Given the description of an element on the screen output the (x, y) to click on. 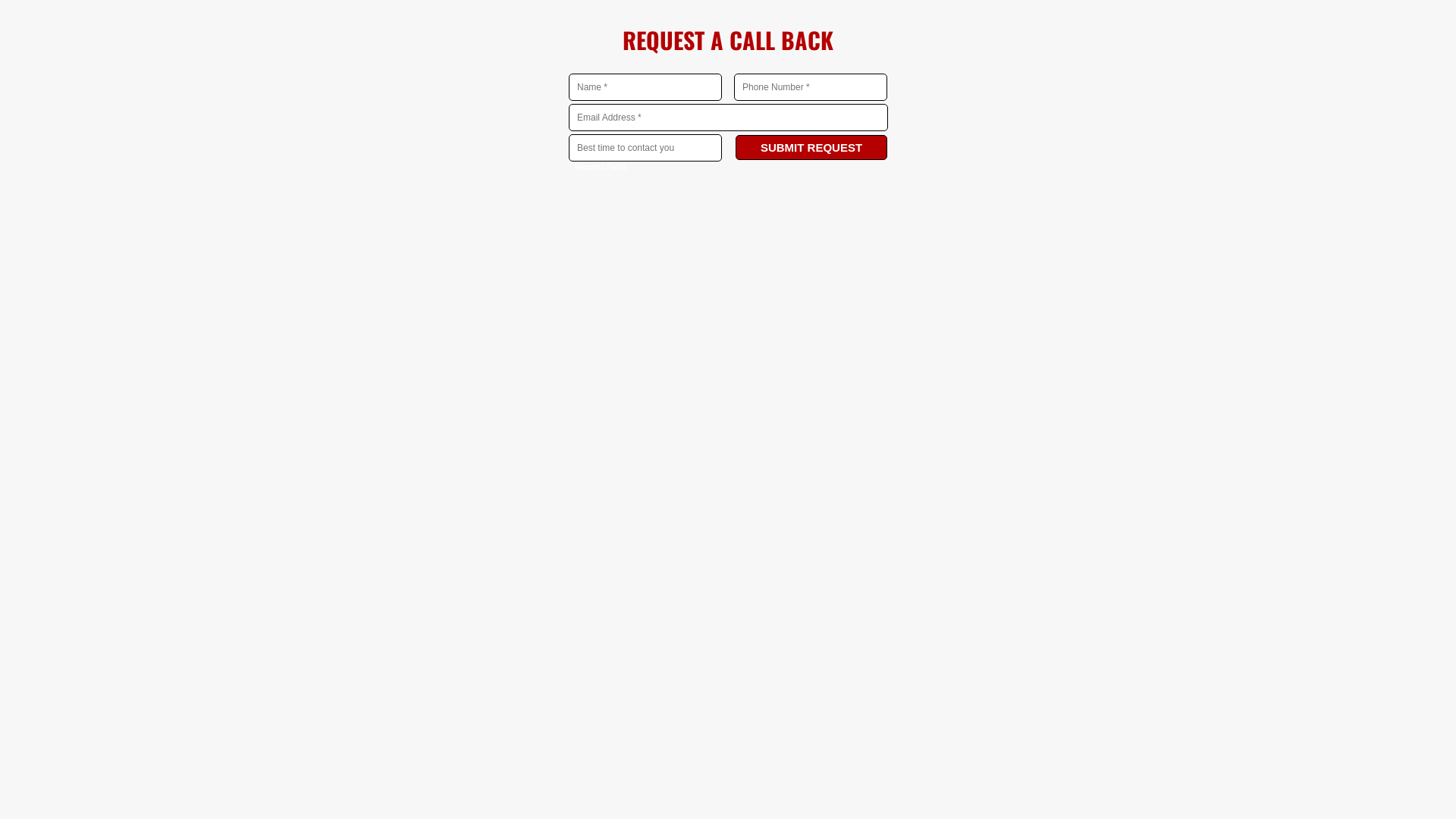
Submit Request Element type: text (811, 147)
